Given the description of an element on the screen output the (x, y) to click on. 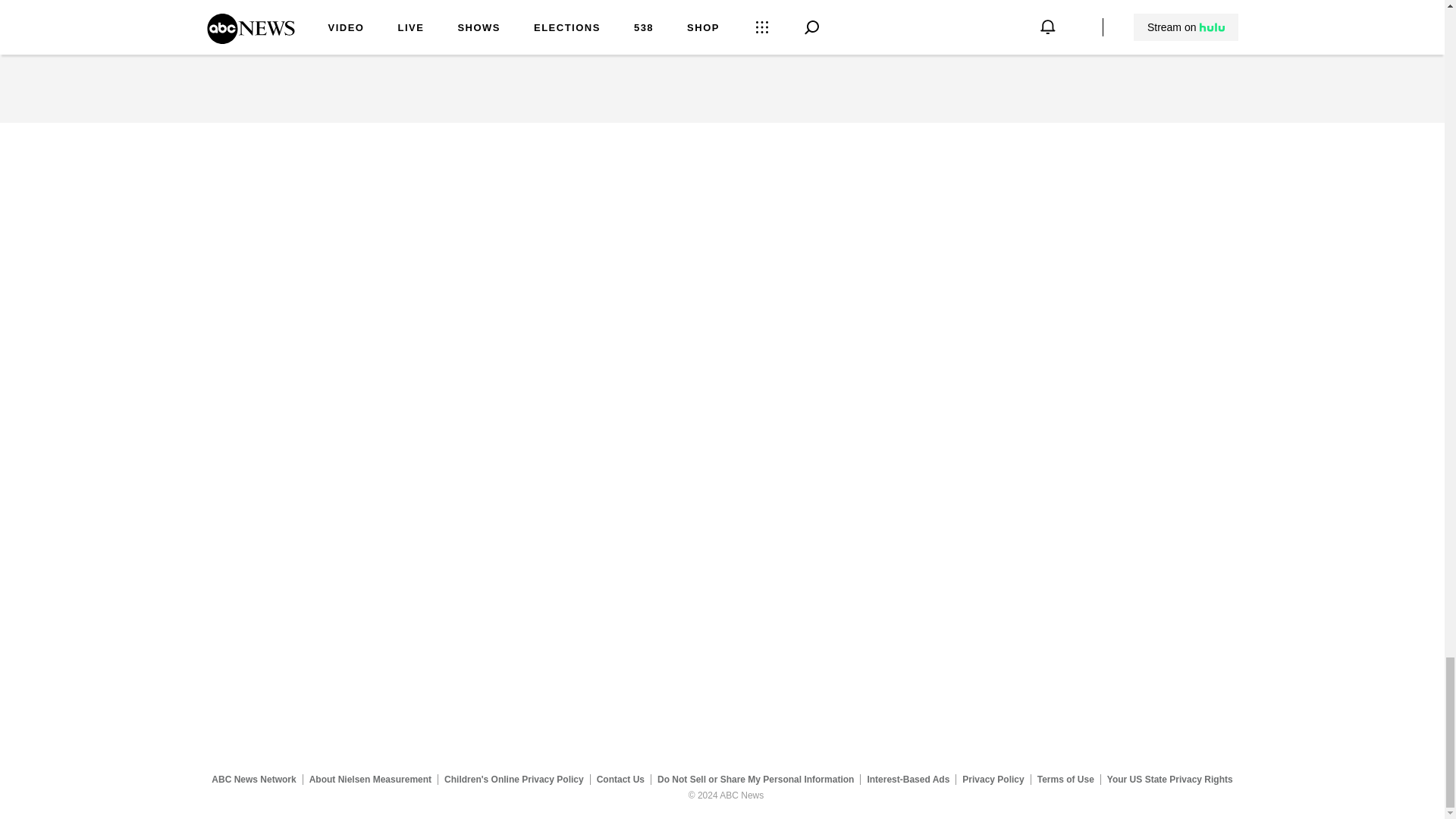
Children's Online Privacy Policy (514, 778)
Interest-Based Ads (908, 778)
Do Not Sell or Share My Personal Information (755, 778)
ABC News Network (253, 778)
Contact Us (620, 778)
About Nielsen Measurement (370, 778)
